Given the description of an element on the screen output the (x, y) to click on. 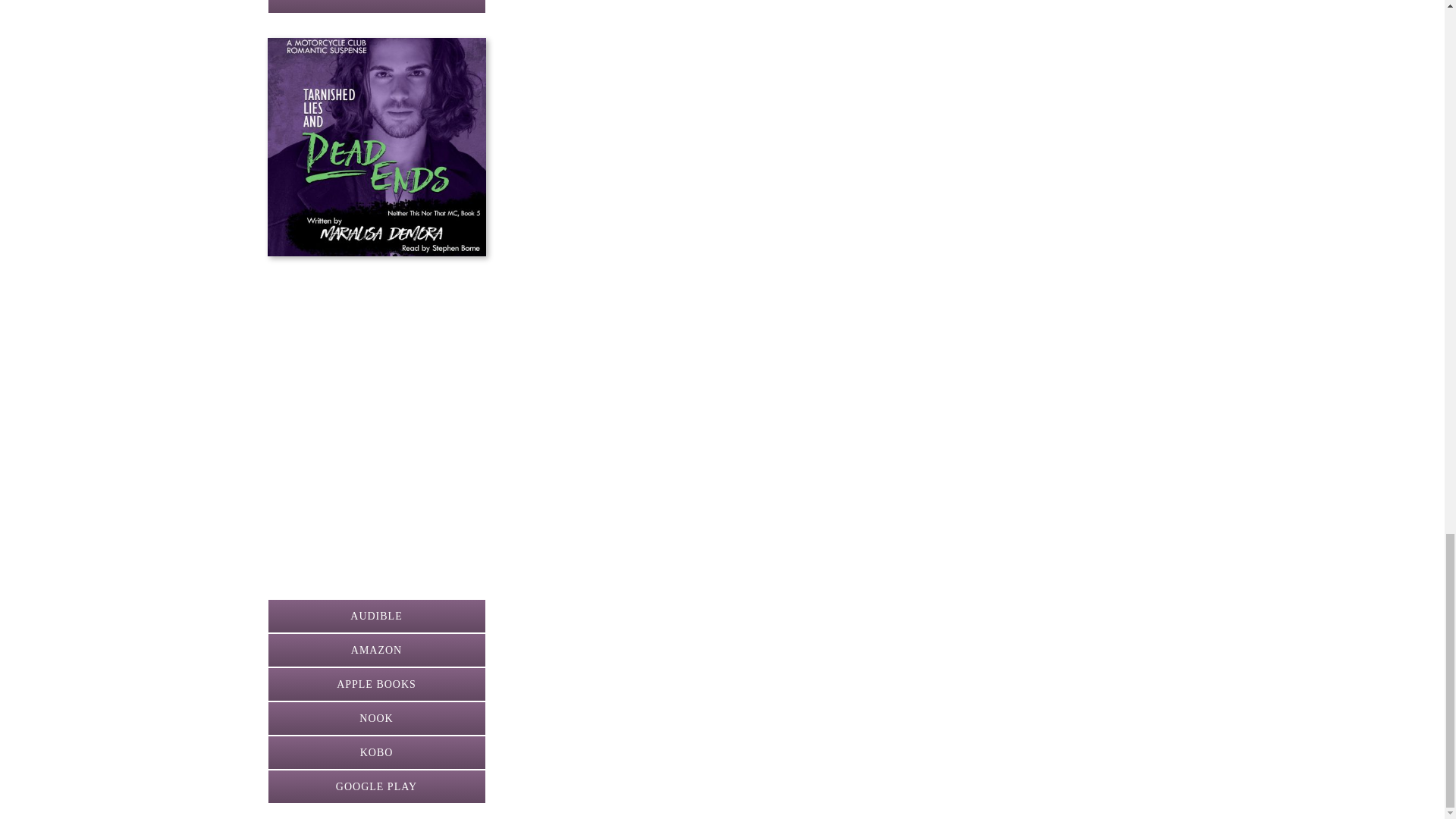
NOOK (375, 718)
APPLE BOOKS (375, 684)
AMAZON (375, 650)
GOOGLE PLAY (375, 786)
AUDIBLE (375, 615)
GOOGLE PLAY (375, 6)
KOBO (375, 752)
